Given the description of an element on the screen output the (x, y) to click on. 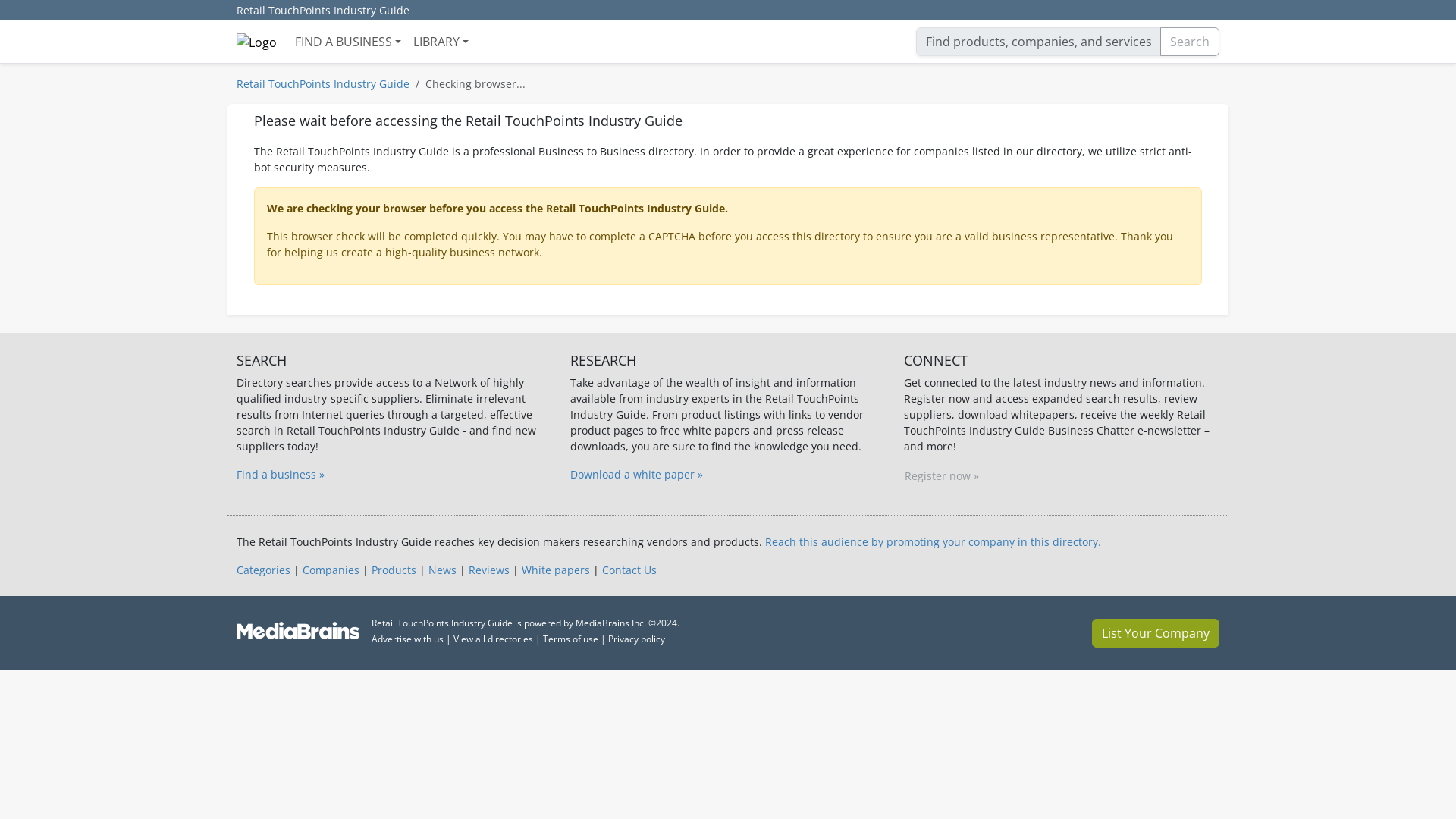
LIBRARY (440, 41)
Search (1190, 41)
News (442, 569)
Contact Us (629, 569)
Retail TouchPoints Industry Guide (322, 83)
Reviews (488, 569)
Categories (262, 569)
White papers (555, 569)
List Your Company (1156, 633)
Products (393, 569)
